Given the description of an element on the screen output the (x, y) to click on. 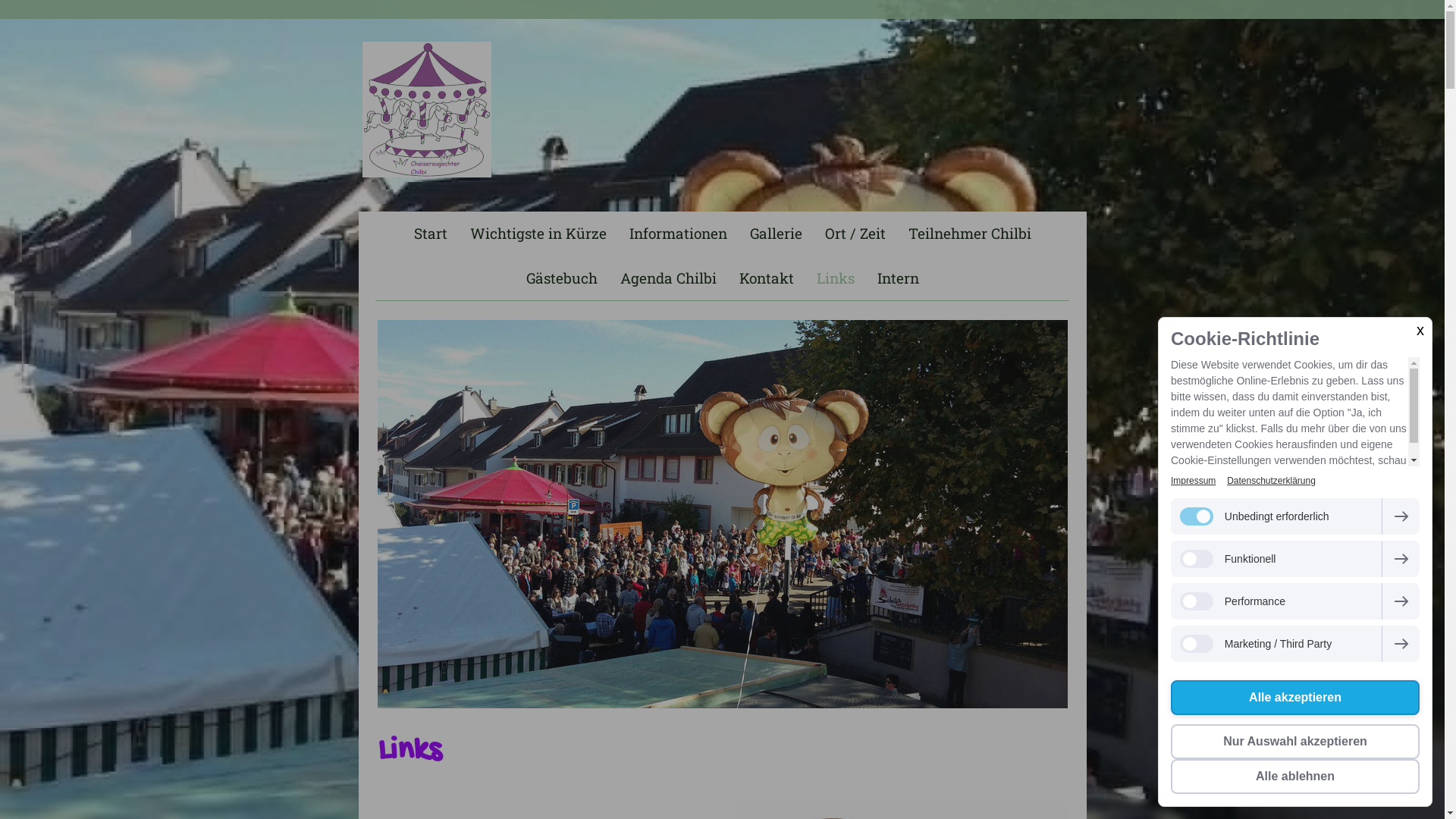
Impressum Element type: text (1192, 480)
Gallerie Element type: text (775, 233)
Informationen Element type: text (677, 233)
Kontakt Element type: text (766, 278)
Intern Element type: text (898, 278)
Start Element type: text (429, 233)
Ort / Zeit Element type: text (854, 233)
Alle akzeptieren Element type: text (1294, 697)
Agenda Chilbi Element type: text (667, 278)
Teilnehmer Chilbi Element type: text (968, 233)
Links Element type: text (835, 278)
Alle ablehnen Element type: text (1294, 776)
Nur Auswahl akzeptieren Element type: text (1294, 741)
